Given the description of an element on the screen output the (x, y) to click on. 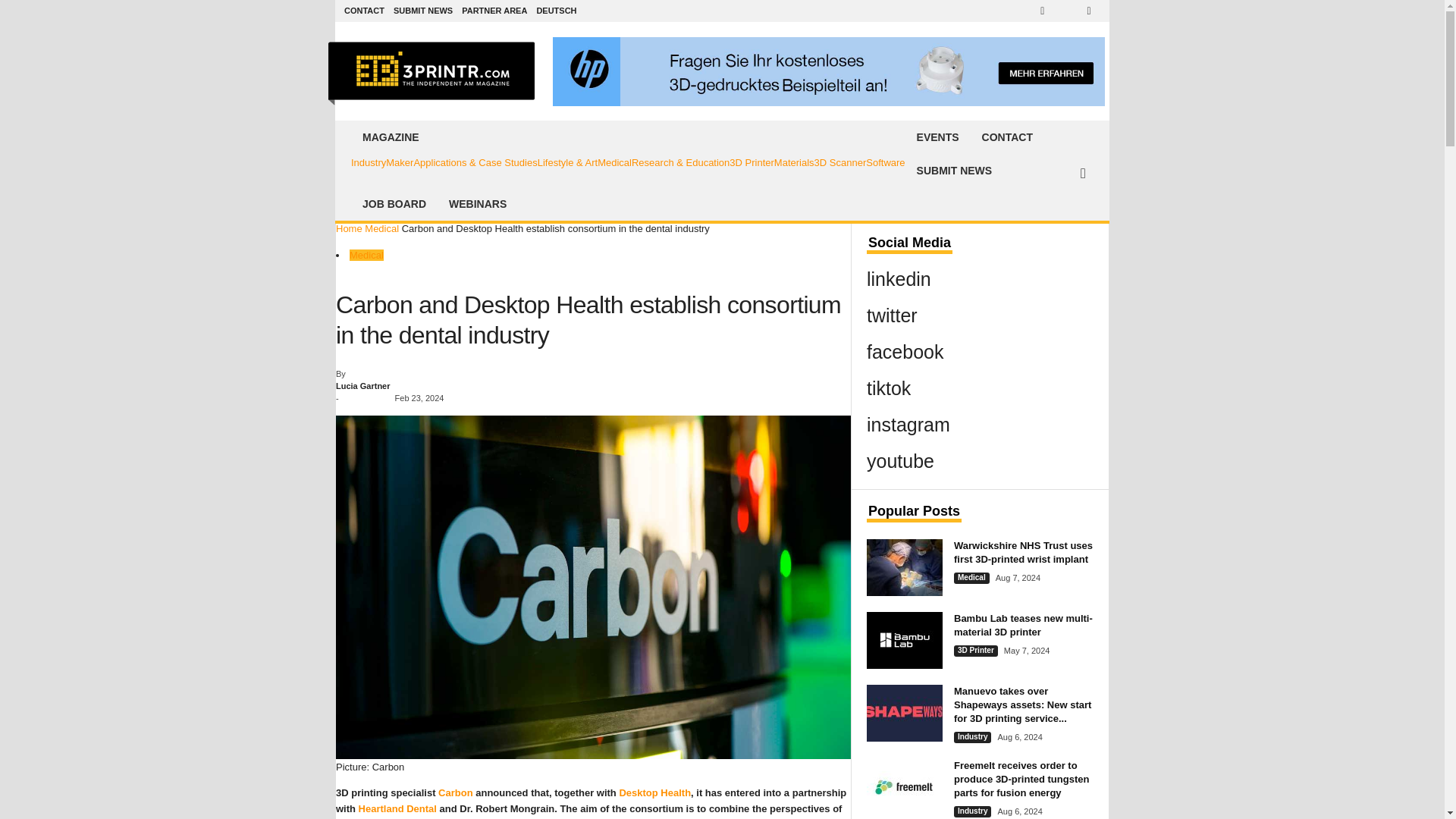
PARTNER AREA (494, 10)
View all posts in Medical (381, 228)
Maker (399, 162)
Industry (367, 162)
3Printr.com (442, 70)
DEUTSCH (555, 10)
SUBMIT NEWS (422, 10)
MAGAZINE (627, 136)
CONTACT (363, 10)
Medical (613, 162)
